Given the description of an element on the screen output the (x, y) to click on. 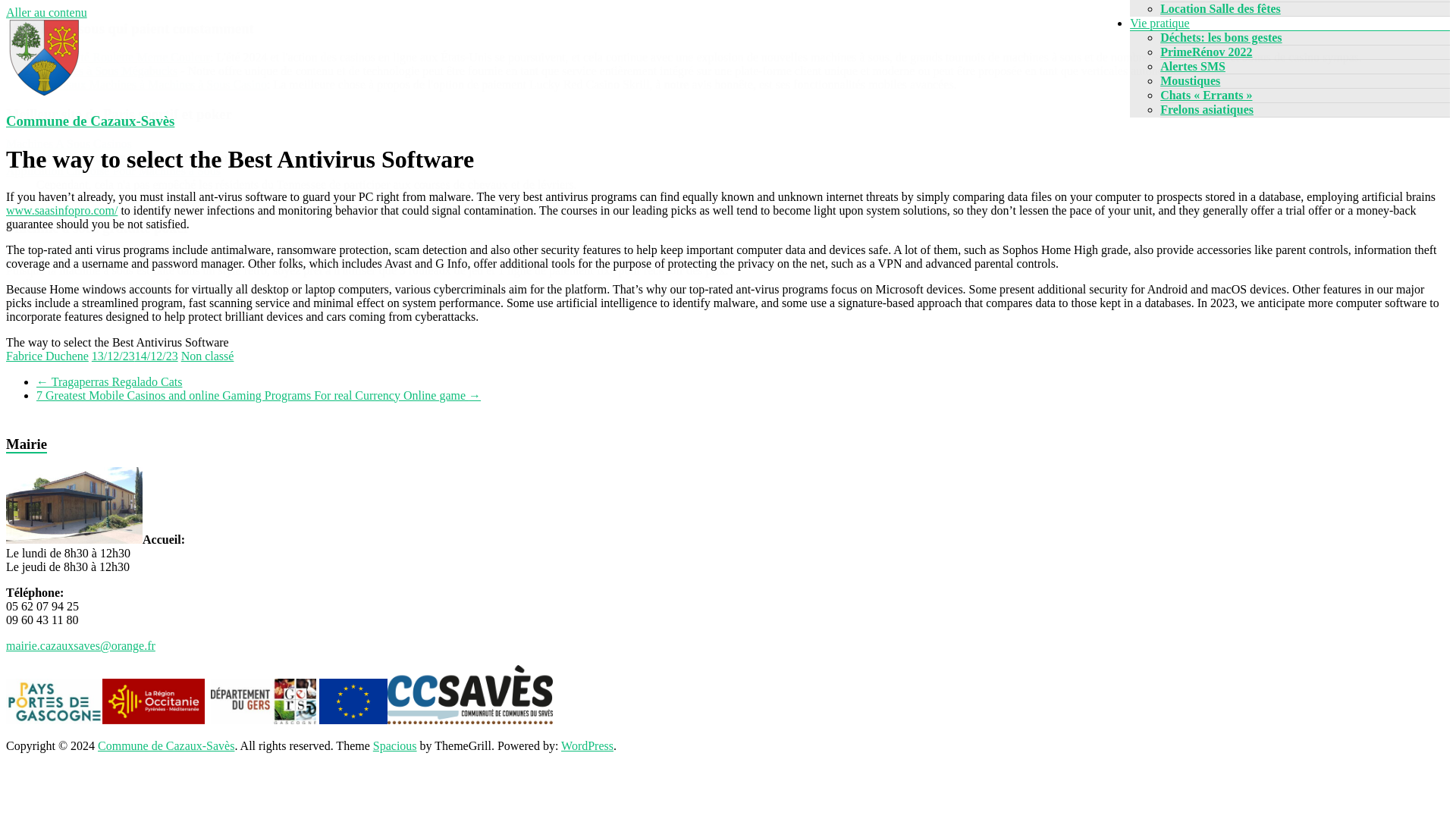
Machines A Sous Casinos (68, 143)
Moustiques (1190, 80)
0h00 (134, 355)
Alertes SMS (1192, 65)
Nouvelles De Casino Et Nouvelles De Jeu (108, 256)
Vie pratique (1159, 22)
Frelons asiatiques (1206, 109)
Fabrice Duchene (46, 355)
Aller au contenu (46, 11)
Associations (1192, 0)
